Given the description of an element on the screen output the (x, y) to click on. 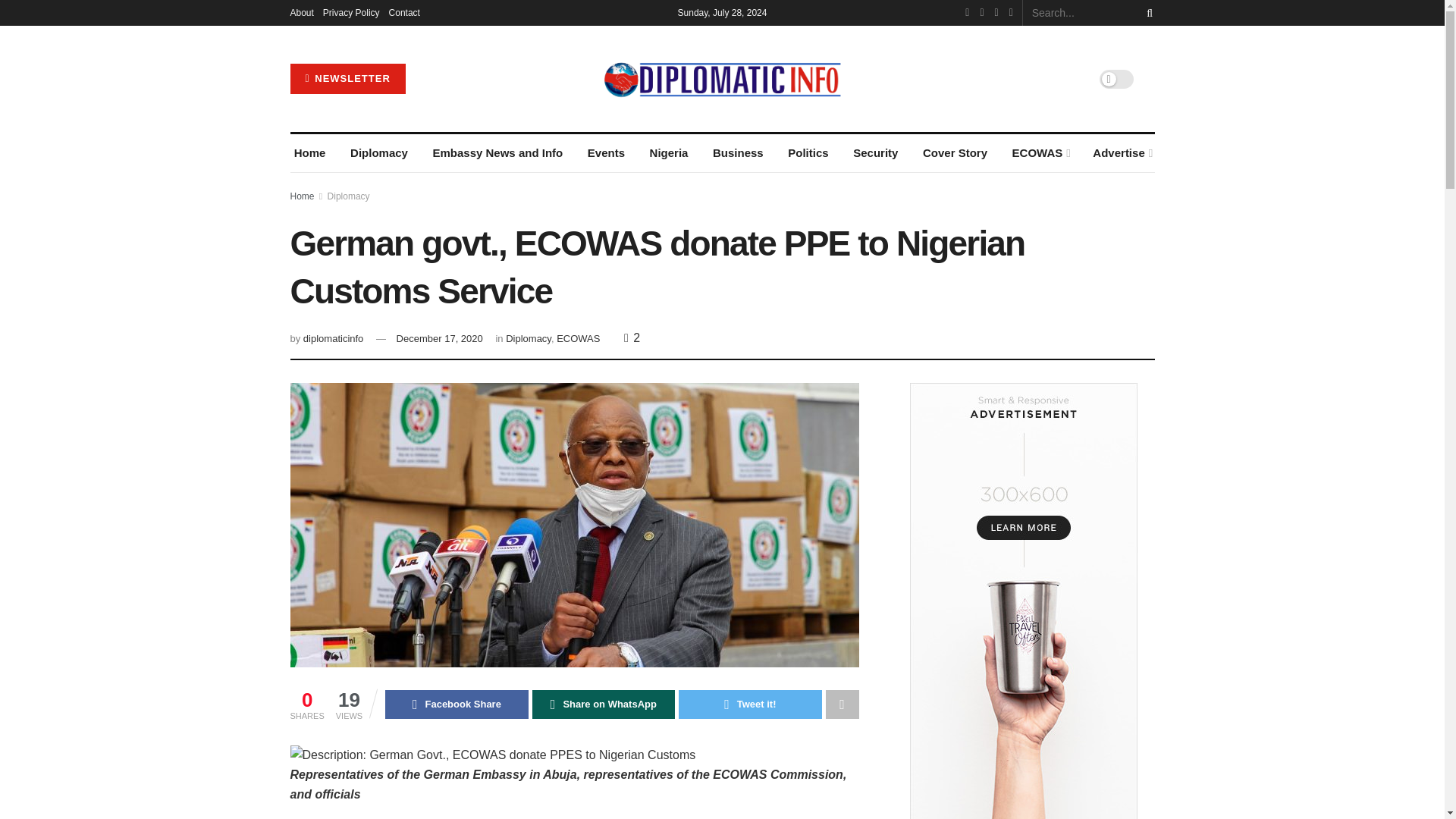
Home (309, 152)
Security (875, 152)
Diplomacy (379, 152)
Contact (404, 12)
NEWSLETTER (346, 78)
Business (738, 152)
Advertise (1121, 152)
About (301, 12)
Nigeria (668, 152)
Politics (808, 152)
Embassy News and Info (497, 152)
Cover Story (954, 152)
Events (605, 152)
ECOWAS (1039, 152)
Privacy Policy (351, 12)
